Given the description of an element on the screen output the (x, y) to click on. 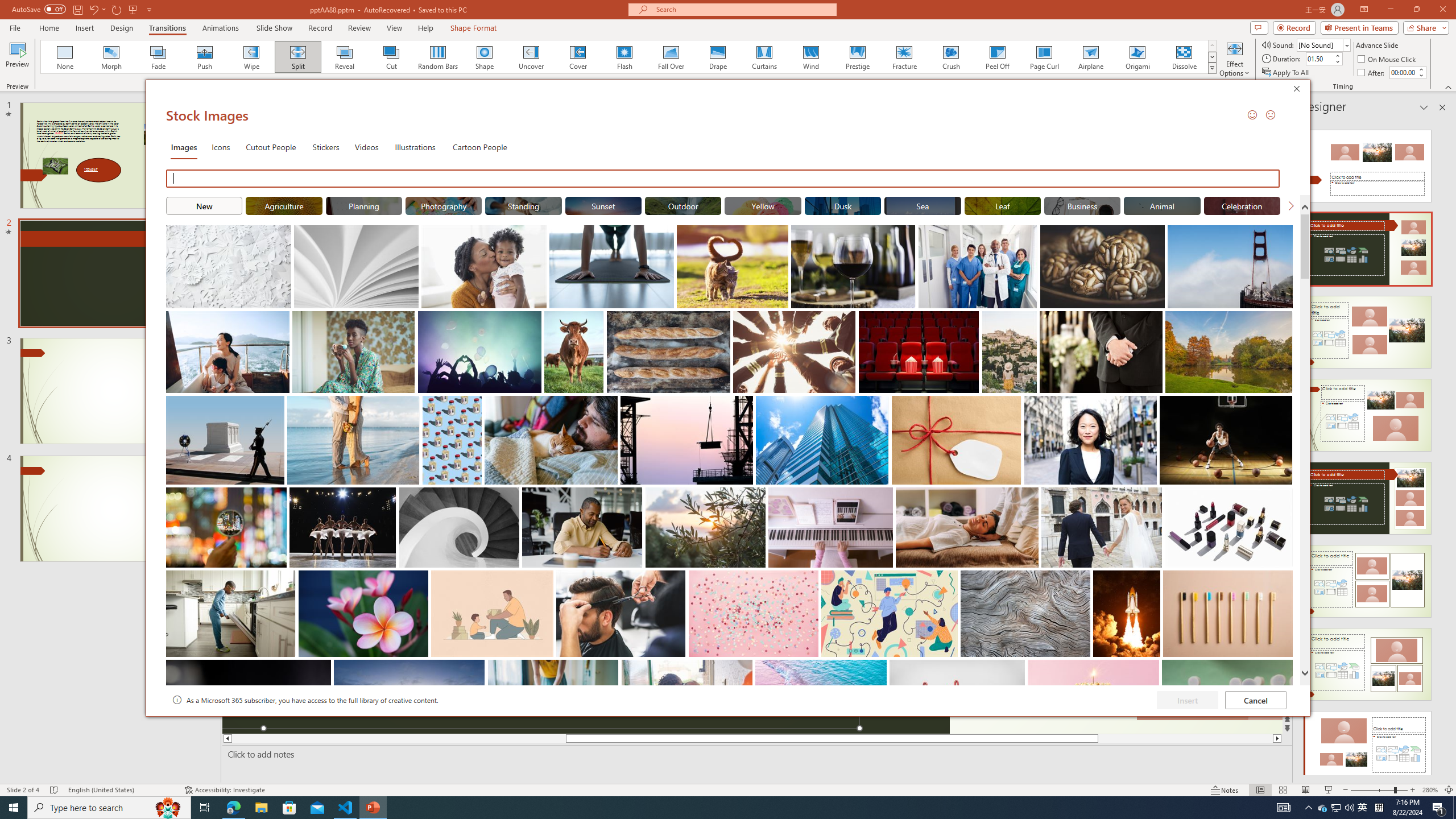
Images (183, 146)
Slide Notes (754, 754)
Shape Format (473, 28)
Push (205, 56)
AutomationID: AnimationTransitionGallery (628, 56)
"Celebration" Stock Images. (1241, 205)
Cartoon People (479, 146)
Class: MsoCommandBar (728, 789)
